Given the description of an element on the screen output the (x, y) to click on. 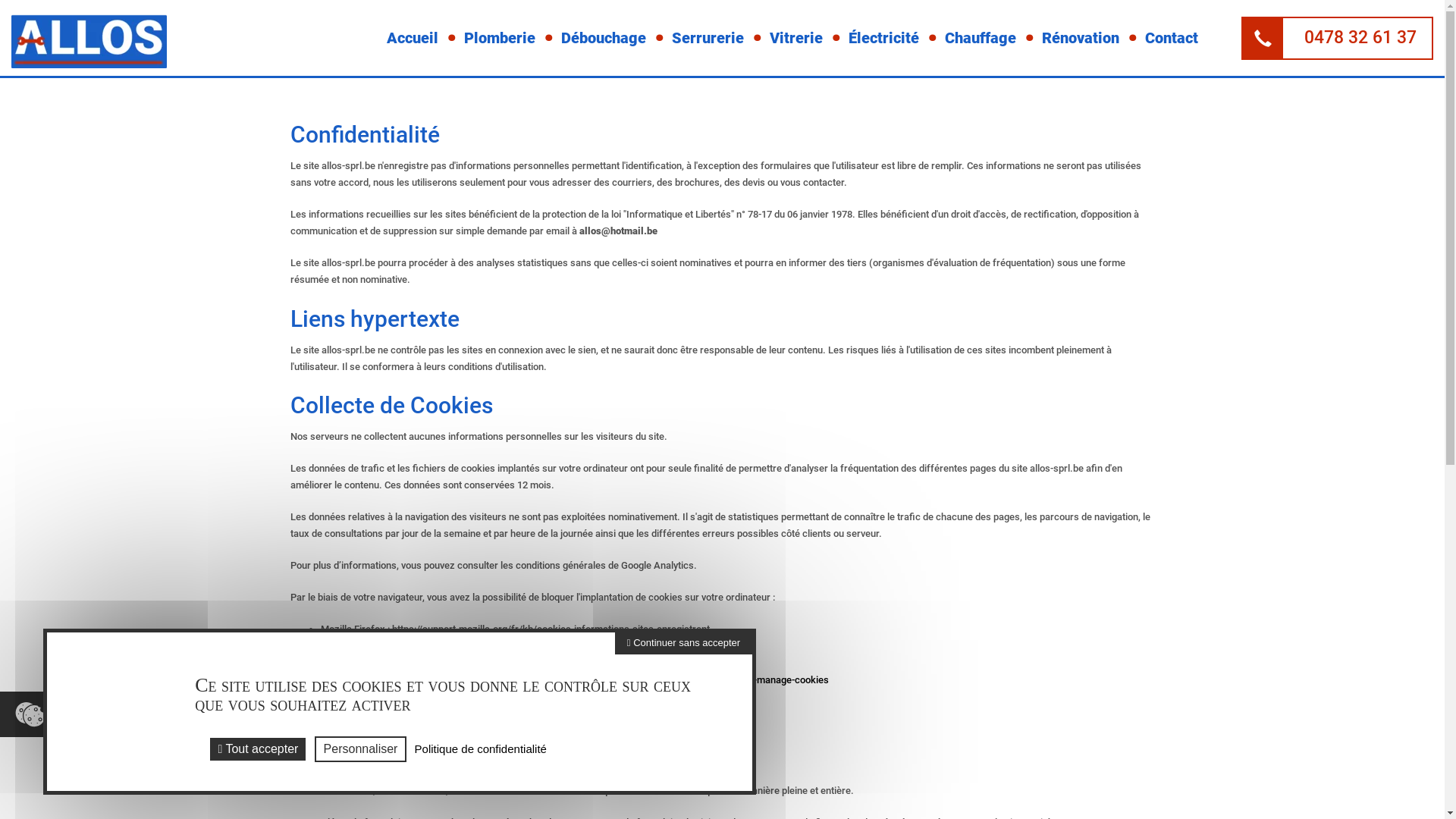
Contact Element type: text (1171, 37)
Continuer sans accepter Element type: text (683, 643)
https://support.google.com/chrome/answer/95647?hl=fr Element type: text (517, 645)
0478 32 61 37 Element type: text (1337, 37)
Plomberie Element type: text (499, 37)
Tout accepter Element type: text (257, 748)
Personnaliser Element type: text (360, 748)
Accueil Element type: text (412, 37)
Vitrerie Element type: text (795, 37)
Chauffage Element type: text (980, 37)
Serrurerie Element type: text (707, 37)
